Given the description of an element on the screen output the (x, y) to click on. 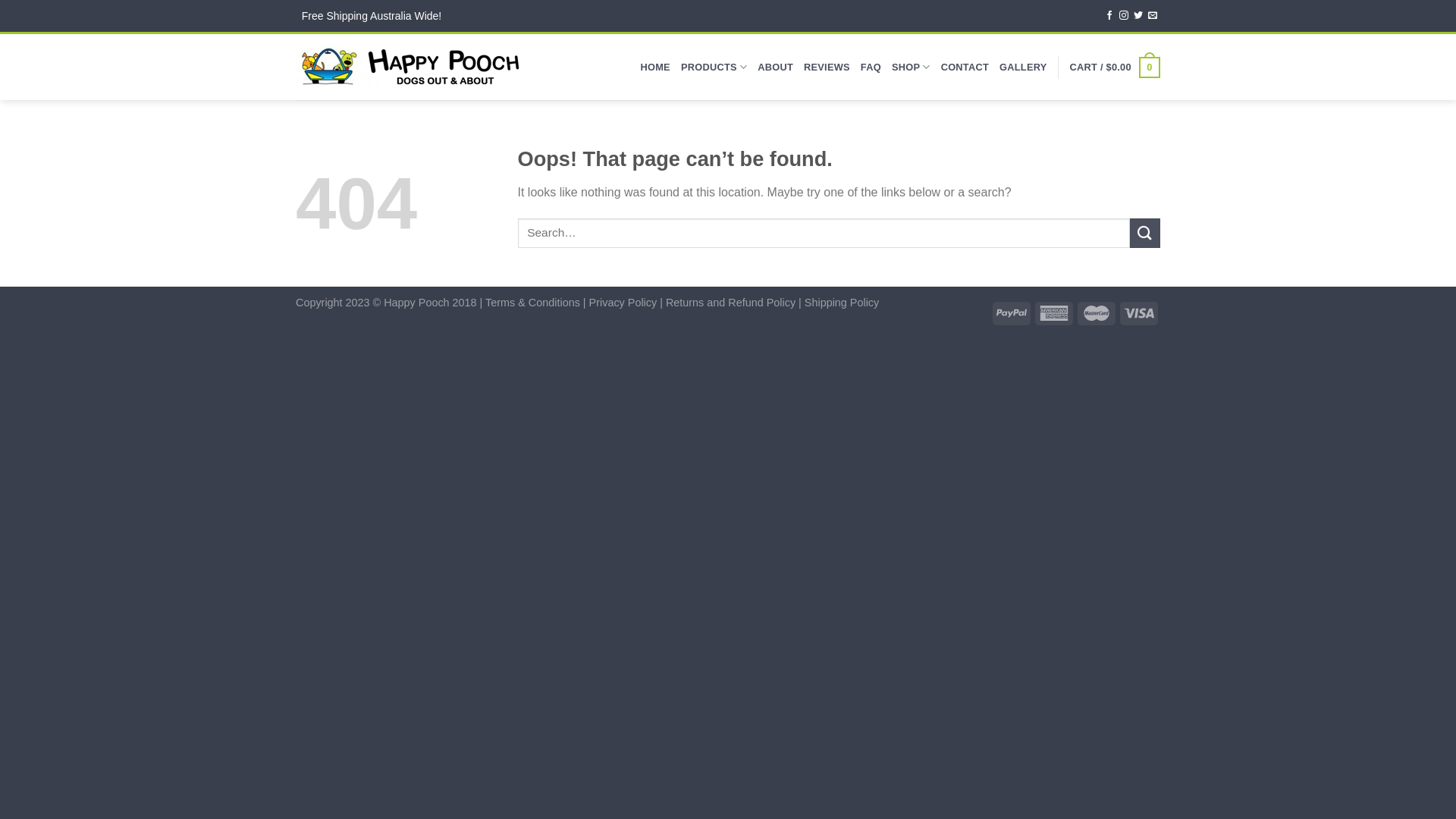
REVIEWS Element type: text (826, 67)
Returns and Refund Policy Element type: text (730, 302)
CART / $0.00
0 Element type: text (1115, 67)
FAQ Element type: text (870, 67)
GALLERY Element type: text (1022, 67)
Happy Pooch - Dogs Out and About Element type: hover (415, 66)
ABOUT Element type: text (775, 67)
Terms & Conditions Element type: text (532, 302)
HOME Element type: text (654, 67)
Shipping Policy Element type: text (841, 302)
CONTACT Element type: text (964, 67)
Skip to content Element type: text (0, 0)
SHOP Element type: text (910, 66)
PRODUCTS Element type: text (713, 66)
Privacy Policy Element type: text (623, 302)
